Given the description of an element on the screen output the (x, y) to click on. 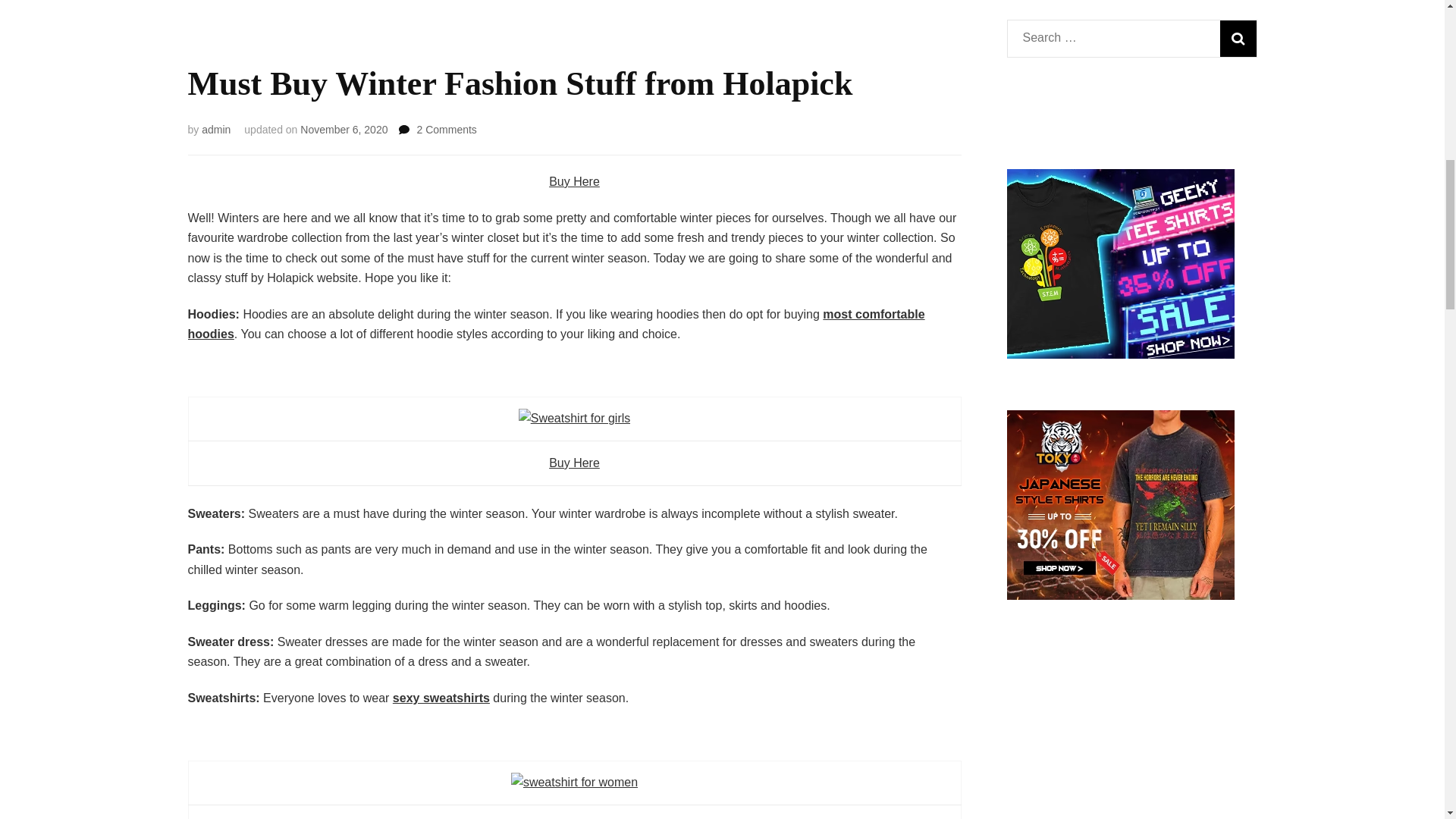
geek t shirt (1120, 354)
Search (1237, 38)
Buy Here (573, 181)
Search (1237, 38)
sexy sweatshirts (441, 697)
Japanese t shirts (1120, 594)
Buy Here (573, 462)
November 6, 2020 (343, 129)
sweatshirt for women (446, 129)
admin (574, 783)
Sweatshirt for girls (216, 129)
most comfortable hoodies (574, 418)
